Given the description of an element on the screen output the (x, y) to click on. 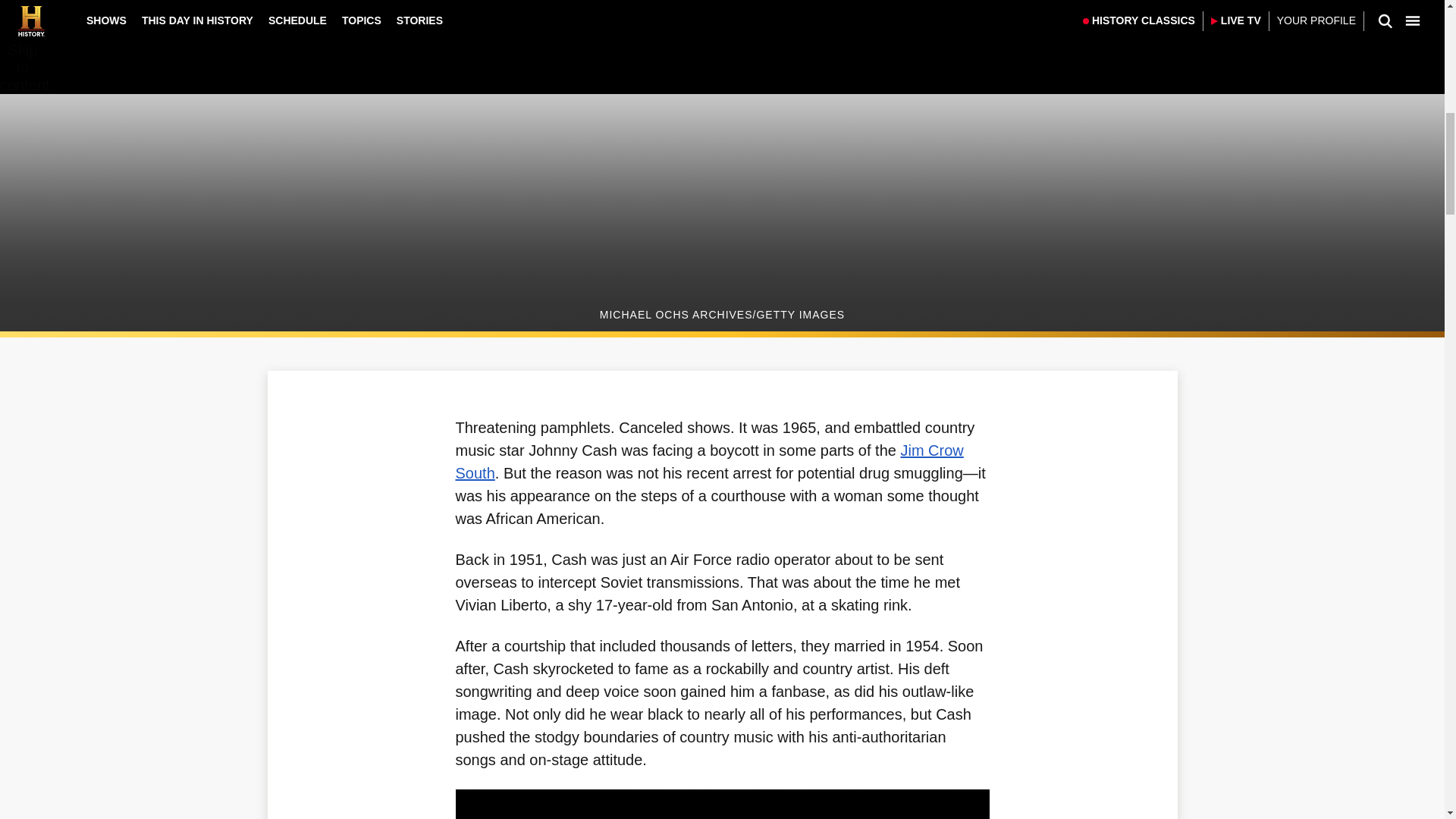
Jim Crow South (708, 461)
